Given the description of an element on the screen output the (x, y) to click on. 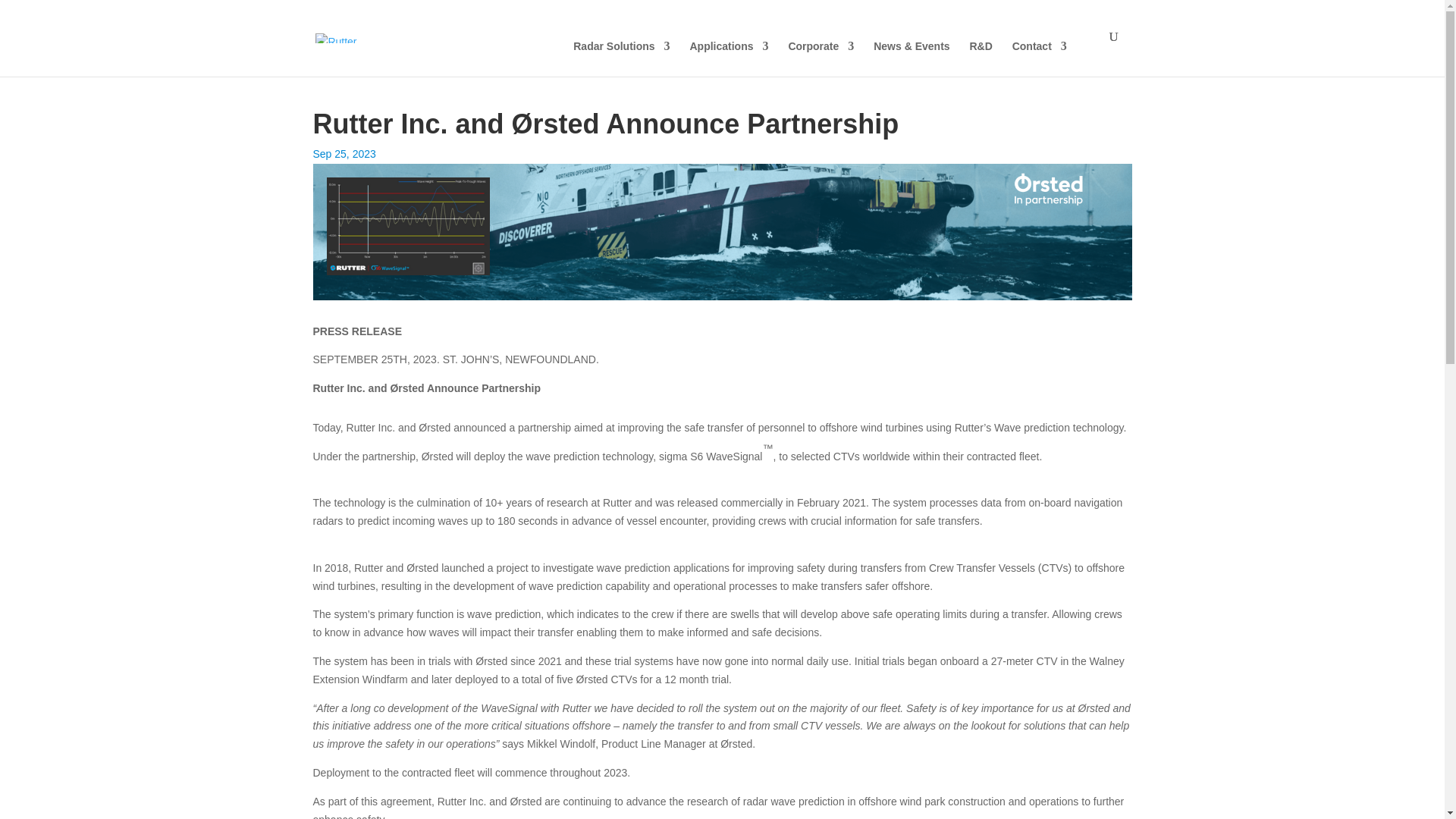
Contact (960, 47)
Corporate (740, 47)
Radar Solutions (541, 47)
Applications (649, 47)
